Given the description of an element on the screen output the (x, y) to click on. 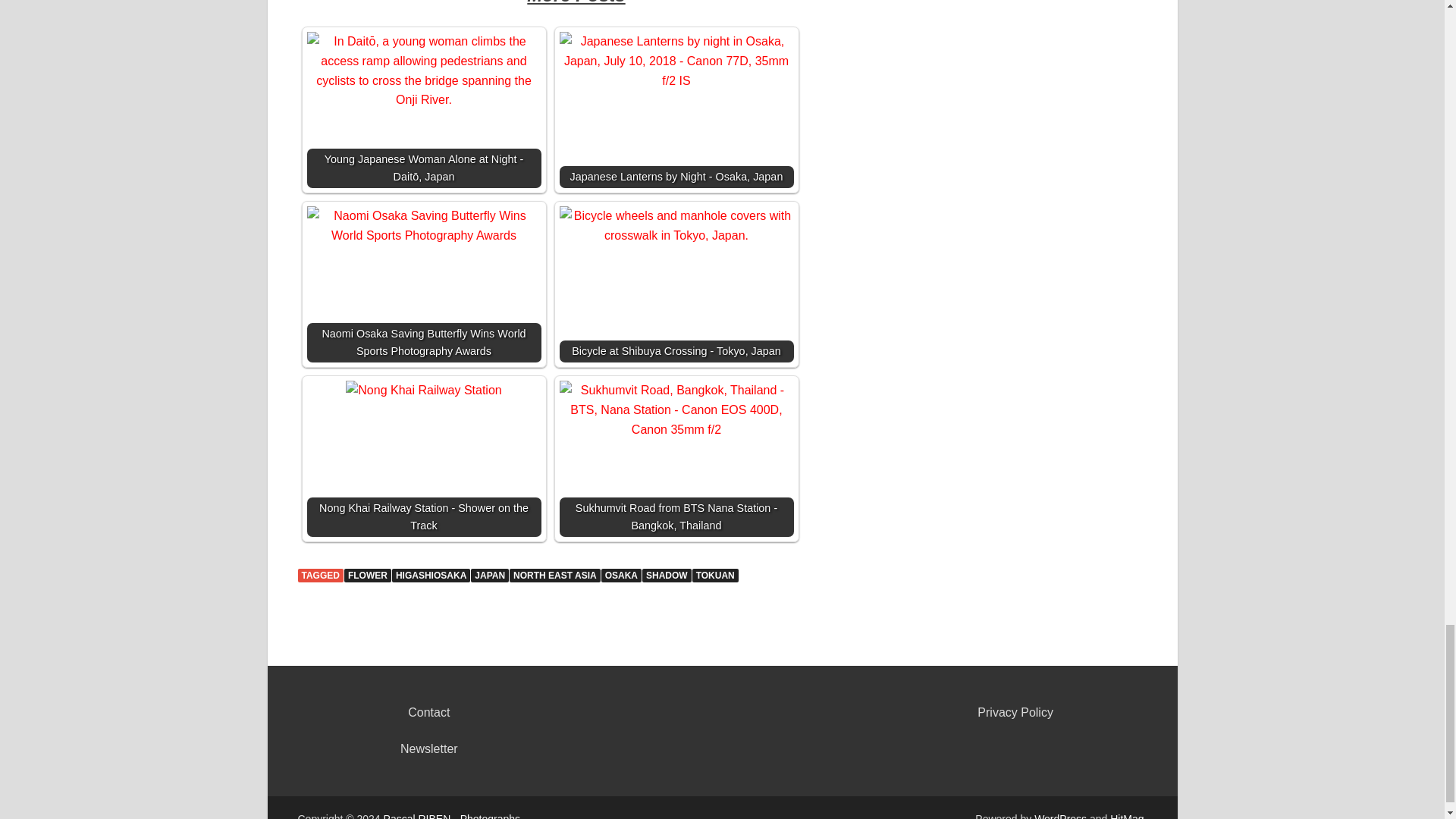
Japanese Lanterns by Night - Osaka, Japan (676, 60)
Bicycle at Shibuya Crossing - Tokyo, Japan (676, 225)
